Given the description of an element on the screen output the (x, y) to click on. 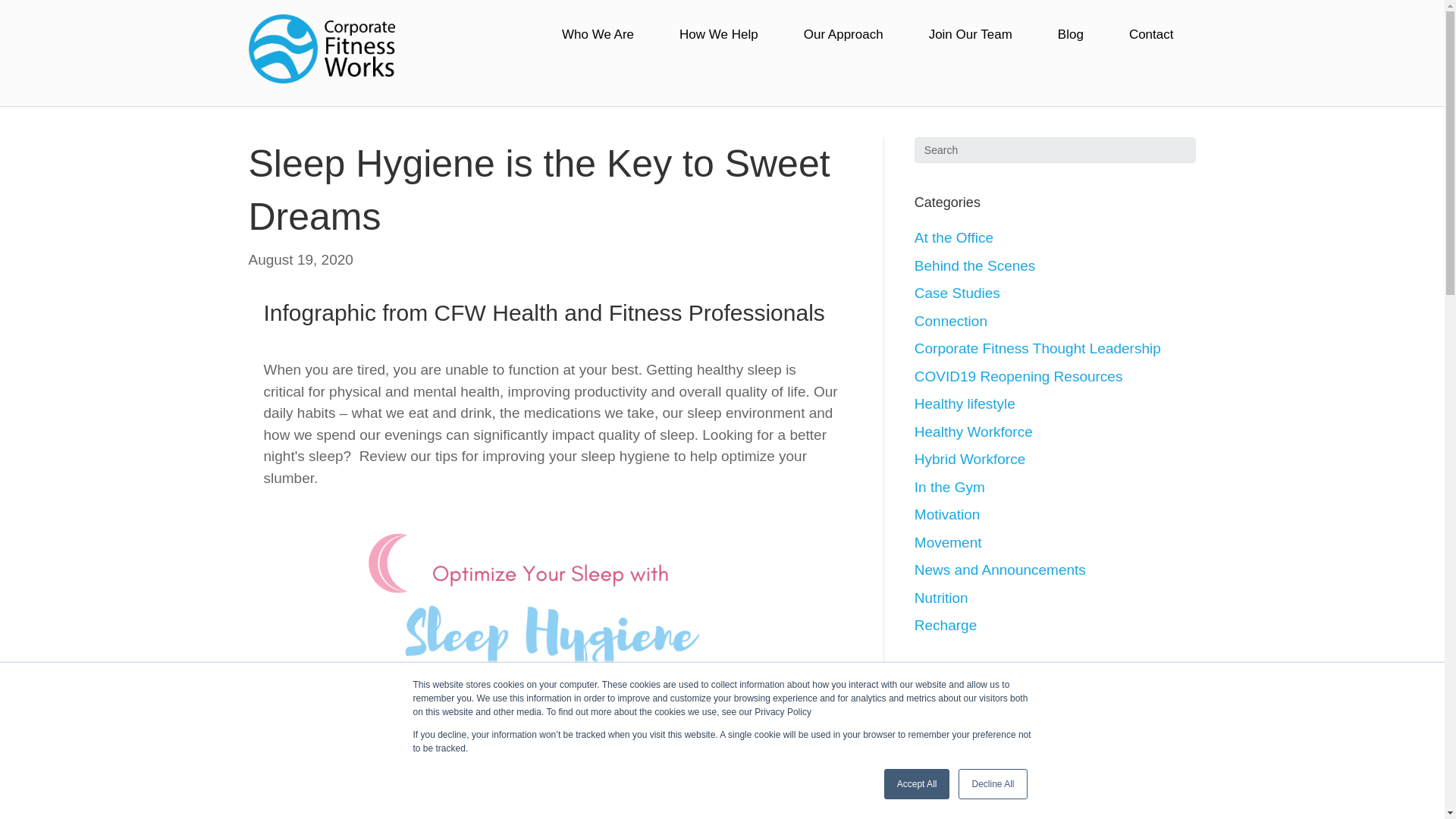
Healthy lifestyle (964, 403)
News and Announcements (1000, 569)
Search (1055, 149)
Join Our Team (970, 34)
At the Office (953, 237)
Type and press Enter to search. (1055, 149)
Decline All (992, 784)
Infographic Sleep Hygiene is the Key to Sweet Dreams (549, 667)
Nutrition (941, 597)
Motivation (946, 514)
Connection (950, 320)
Recharge (945, 625)
Healthy Workforce (973, 431)
Contact (1151, 34)
Blog (1070, 34)
